Given the description of an element on the screen output the (x, y) to click on. 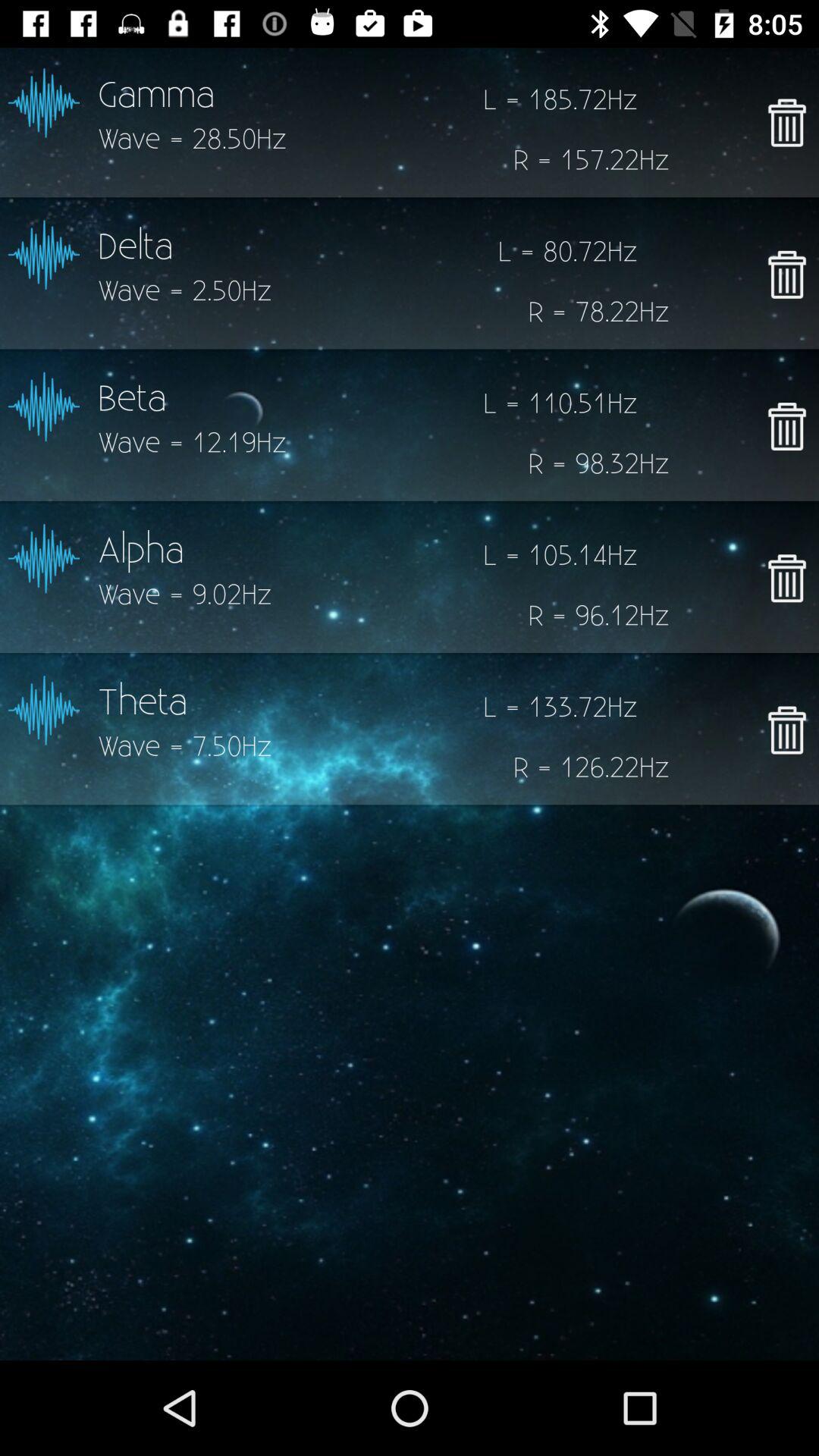
delete this item (787, 577)
